Given the description of an element on the screen output the (x, y) to click on. 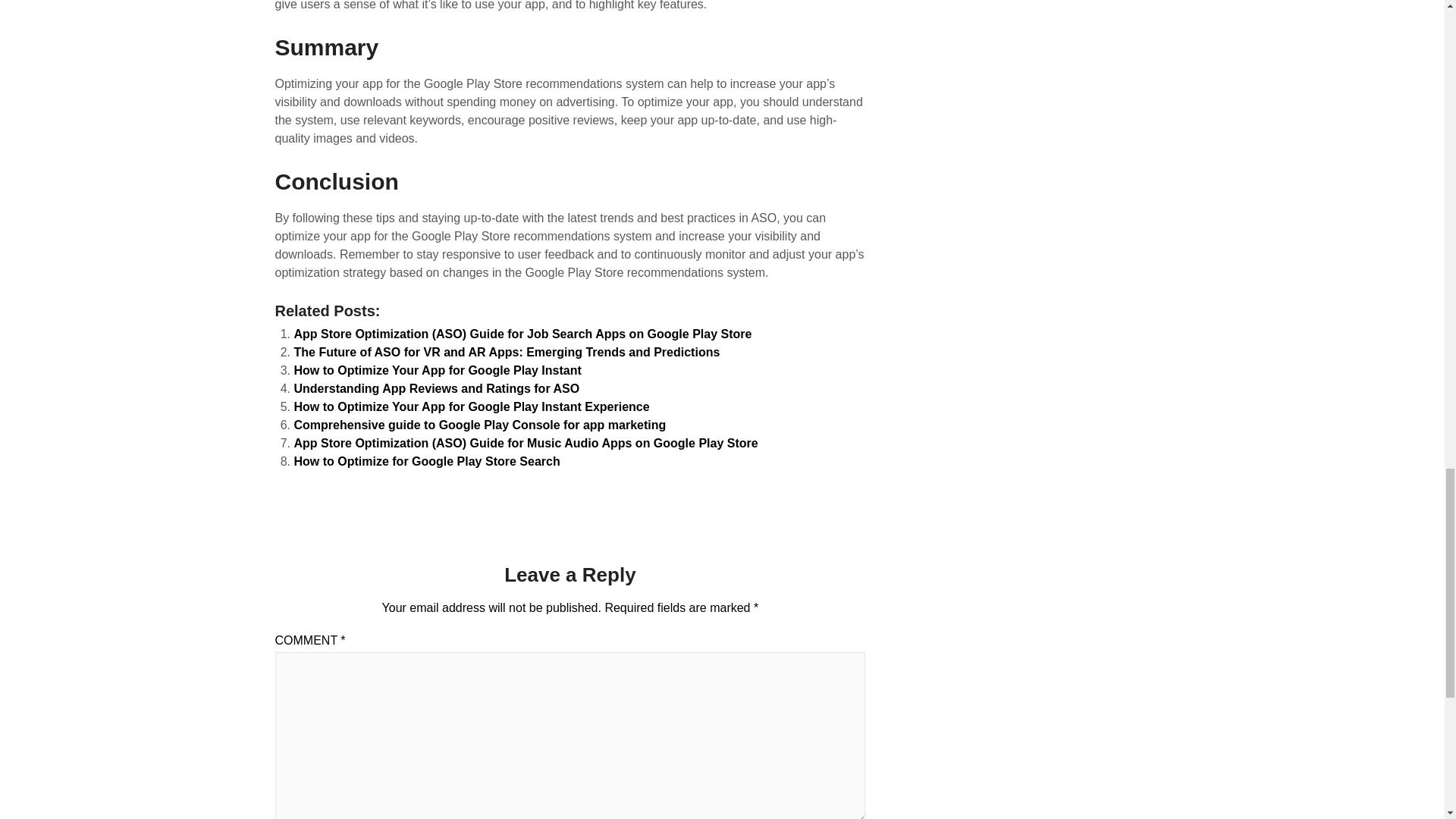
How to Optimize Your App for Google Play Instant (437, 369)
How to Optimize for Google Play Store Search (427, 461)
Understanding App Reviews and Ratings for ASO (436, 388)
How to Optimize Your App for Google Play Instant (437, 369)
Comprehensive guide to Google Play Console for app marketing (480, 424)
How to Optimize for Google Play Store Search (427, 461)
Understanding App Reviews and Ratings for ASO (436, 388)
Comprehensive guide to Google Play Console for app marketing (480, 424)
How to Optimize Your App for Google Play Instant Experience (471, 406)
How to Optimize Your App for Google Play Instant Experience (471, 406)
